Given the description of an element on the screen output the (x, y) to click on. 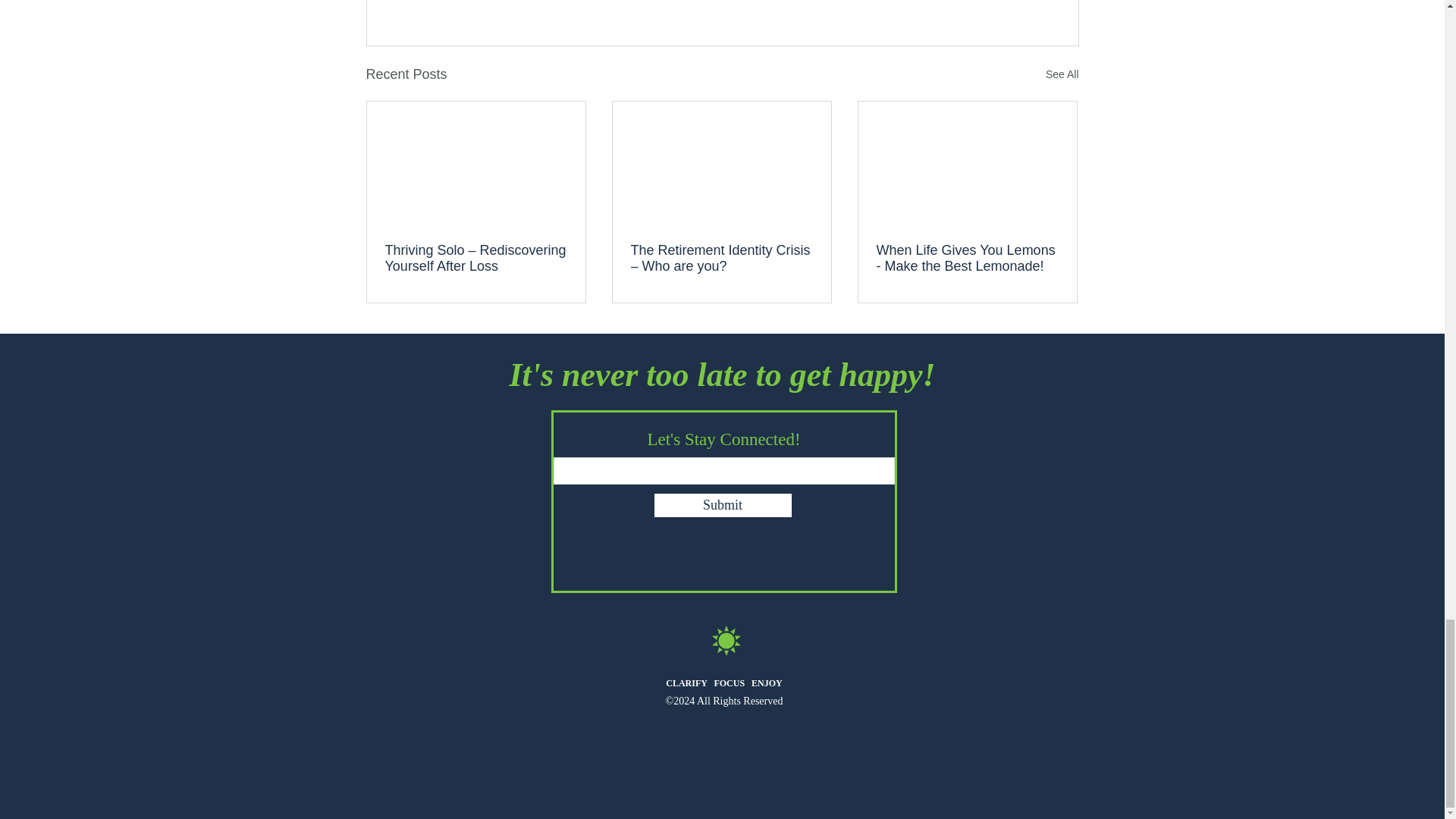
See All (1061, 74)
When Life Gives You Lemons - Make the Best Lemonade! (967, 258)
Submit (721, 504)
